Given the description of an element on the screen output the (x, y) to click on. 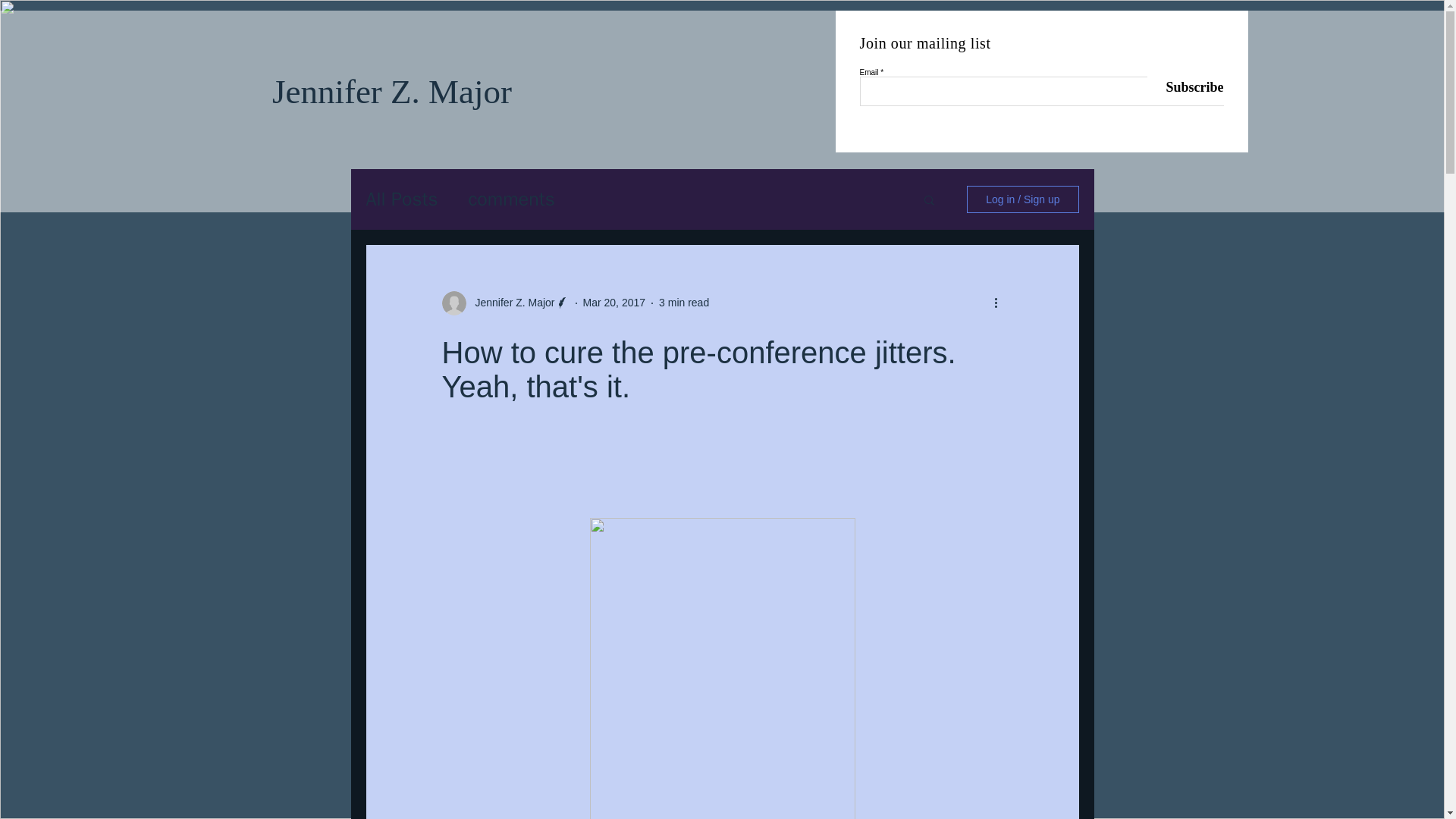
Subscribe (1185, 87)
BOOKS (584, 182)
BIO (796, 182)
comments (510, 198)
3 min read (684, 302)
All Posts (401, 198)
HOME (418, 182)
BLOG (501, 182)
CONTACT (881, 182)
PHOTO GALLERY (694, 182)
